Given the description of an element on the screen output the (x, y) to click on. 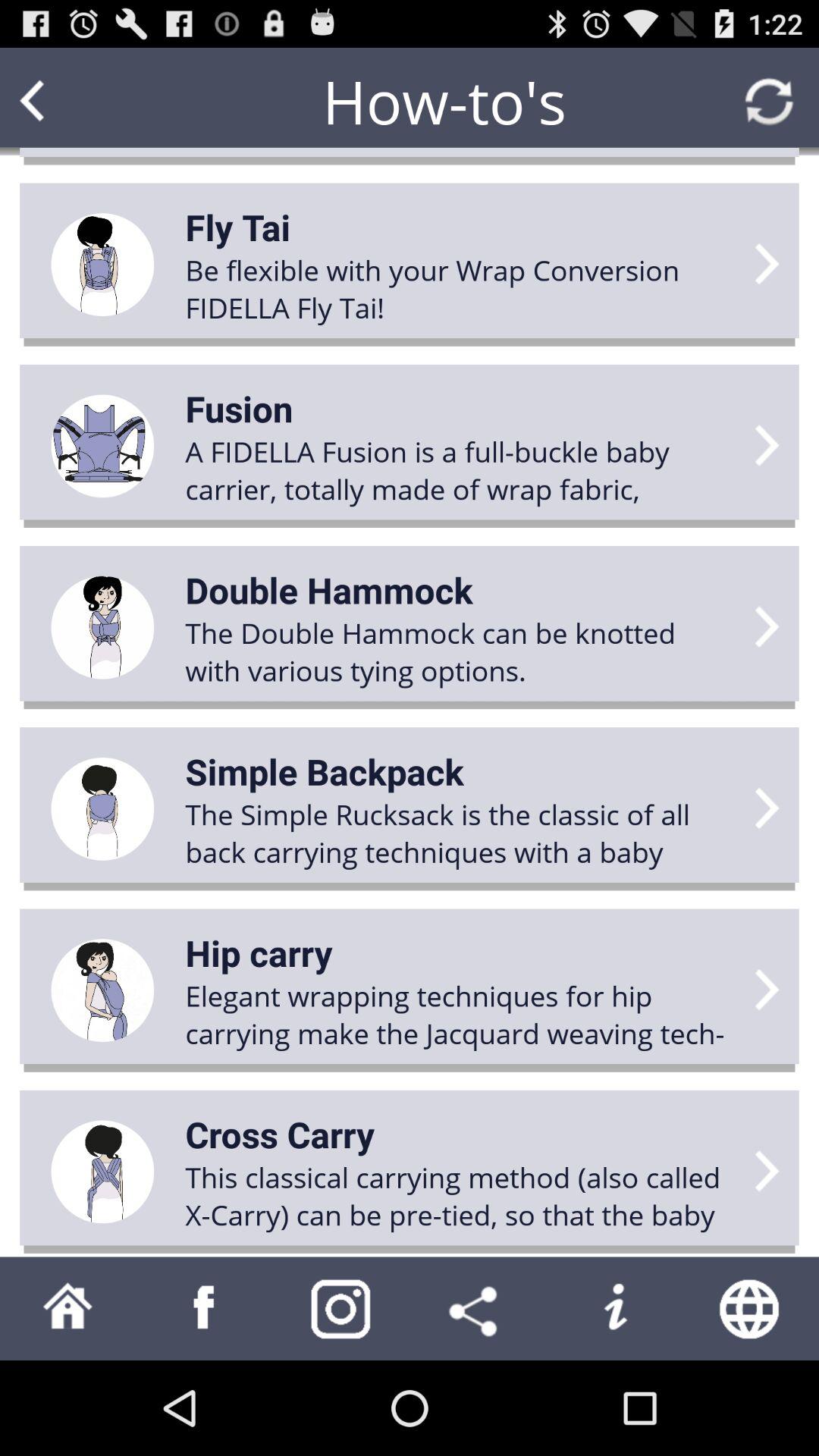
refresh list (769, 101)
